Given the description of an element on the screen output the (x, y) to click on. 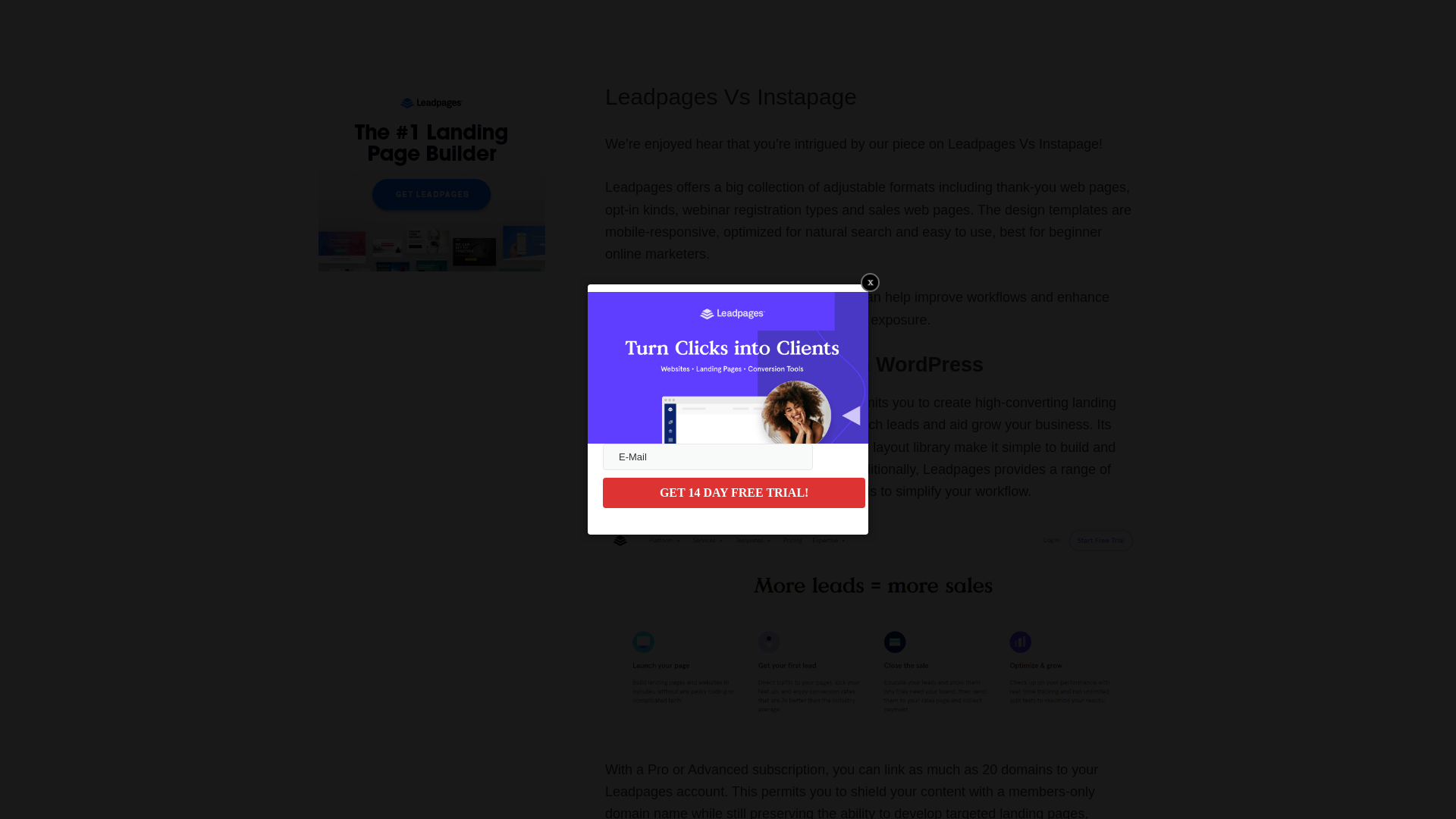
GET 14 DAY FREE TRIAL! (733, 492)
GET 14 DAY FREE TRIAL! (733, 492)
